Given the description of an element on the screen output the (x, y) to click on. 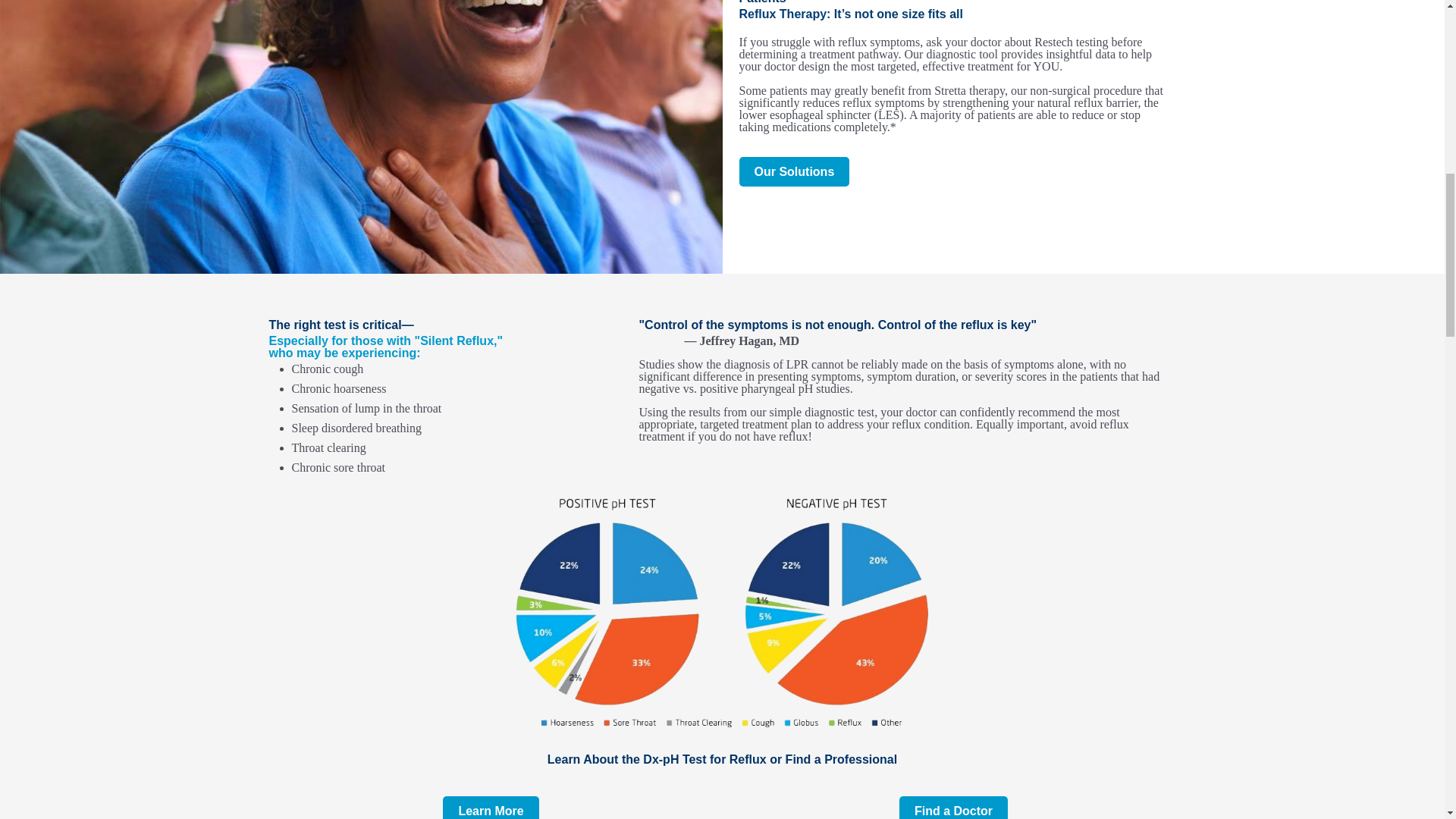
Find a Doctor (953, 807)
Learn More (490, 807)
Our Solutions (793, 171)
